Given the description of an element on the screen output the (x, y) to click on. 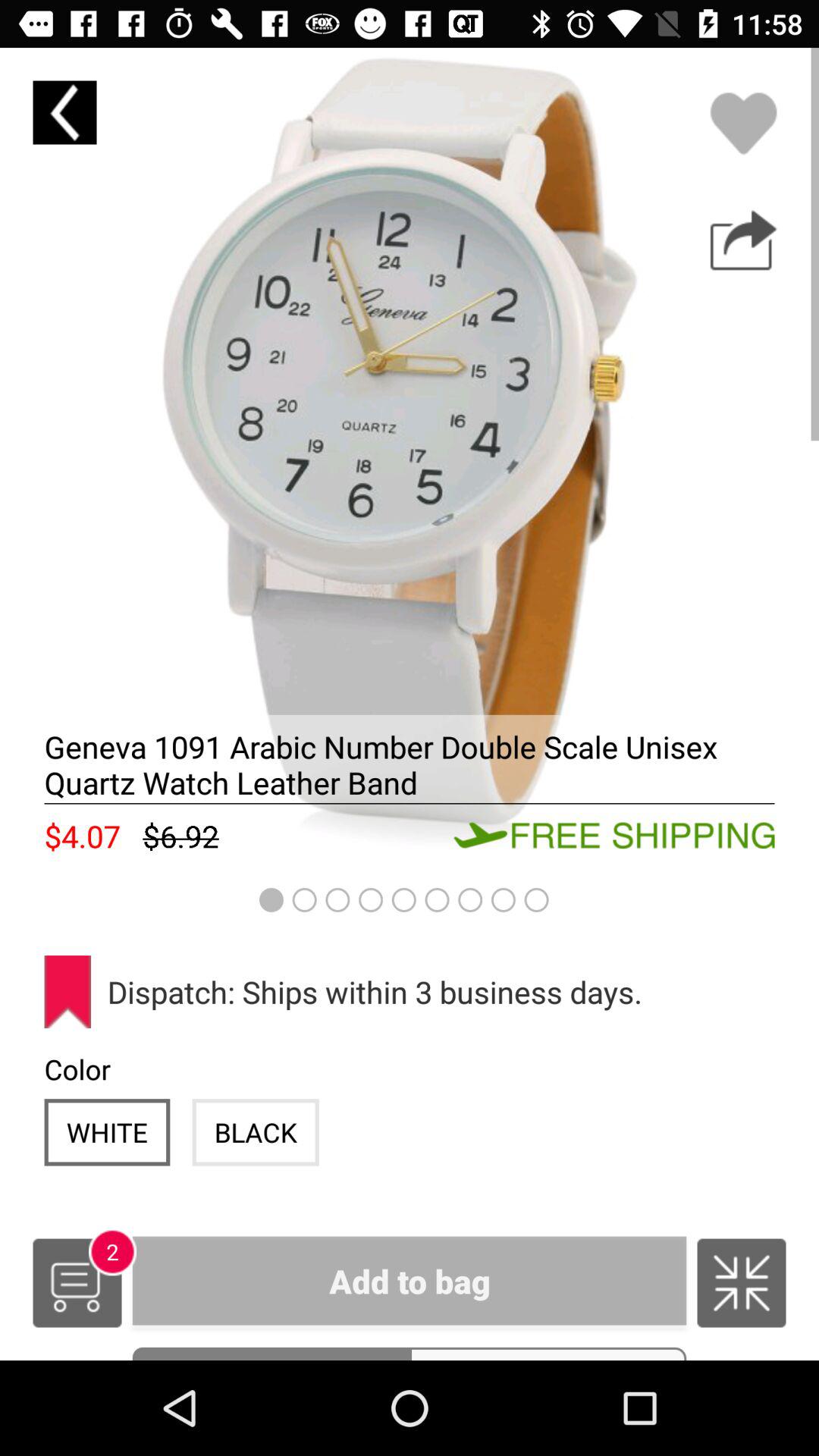
item description (409, 456)
